Given the description of an element on the screen output the (x, y) to click on. 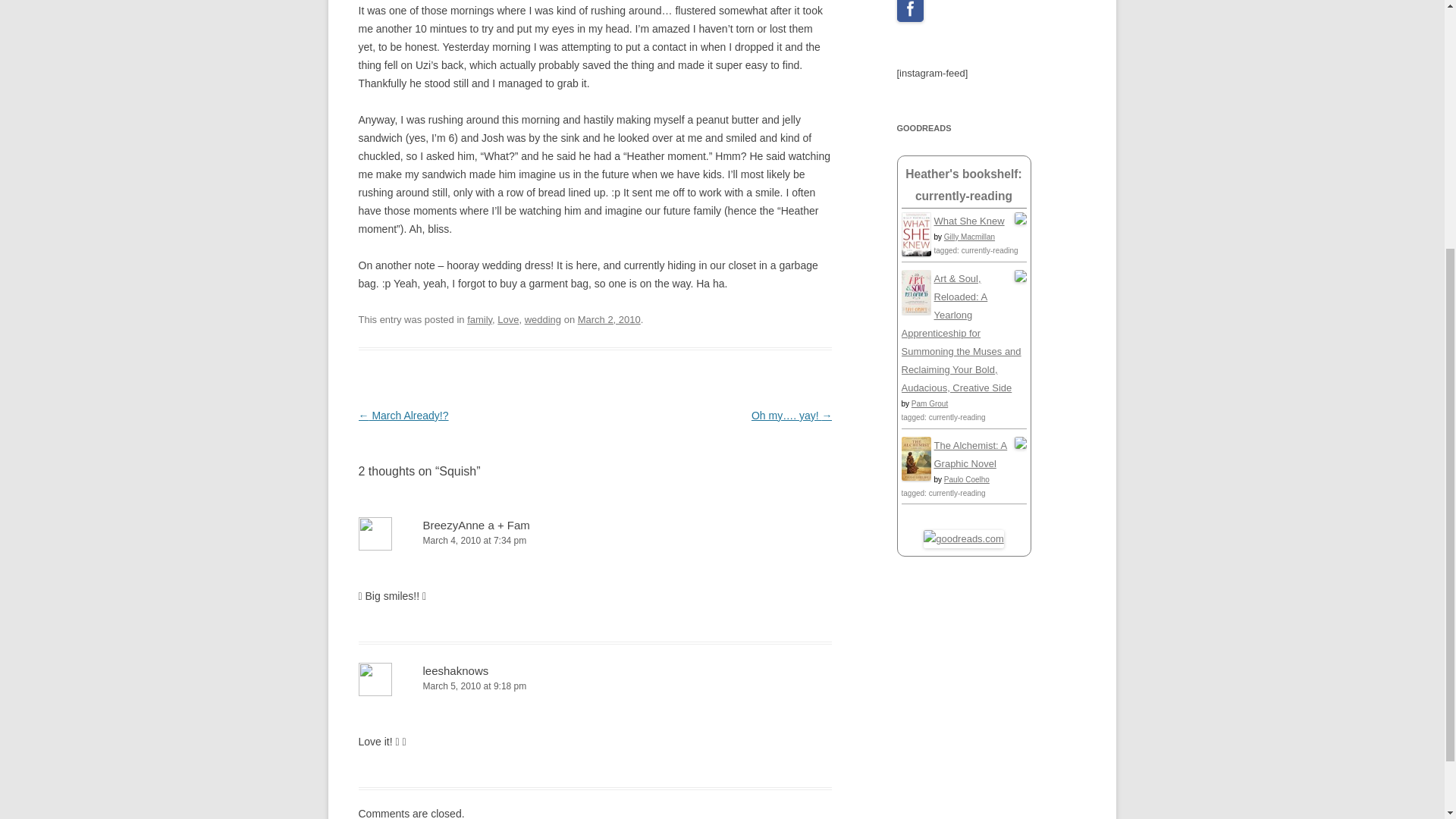
The Alchemist: A Graphic Novel (915, 477)
Love (507, 319)
What She Knew (969, 220)
Paulo Coelho (966, 479)
Gilly Macmillan (968, 236)
family (479, 319)
March 2, 2010 (609, 319)
Pam Grout (929, 403)
Facebook (909, 11)
March 5, 2010 at 9:18 pm (594, 686)
